Given the description of an element on the screen output the (x, y) to click on. 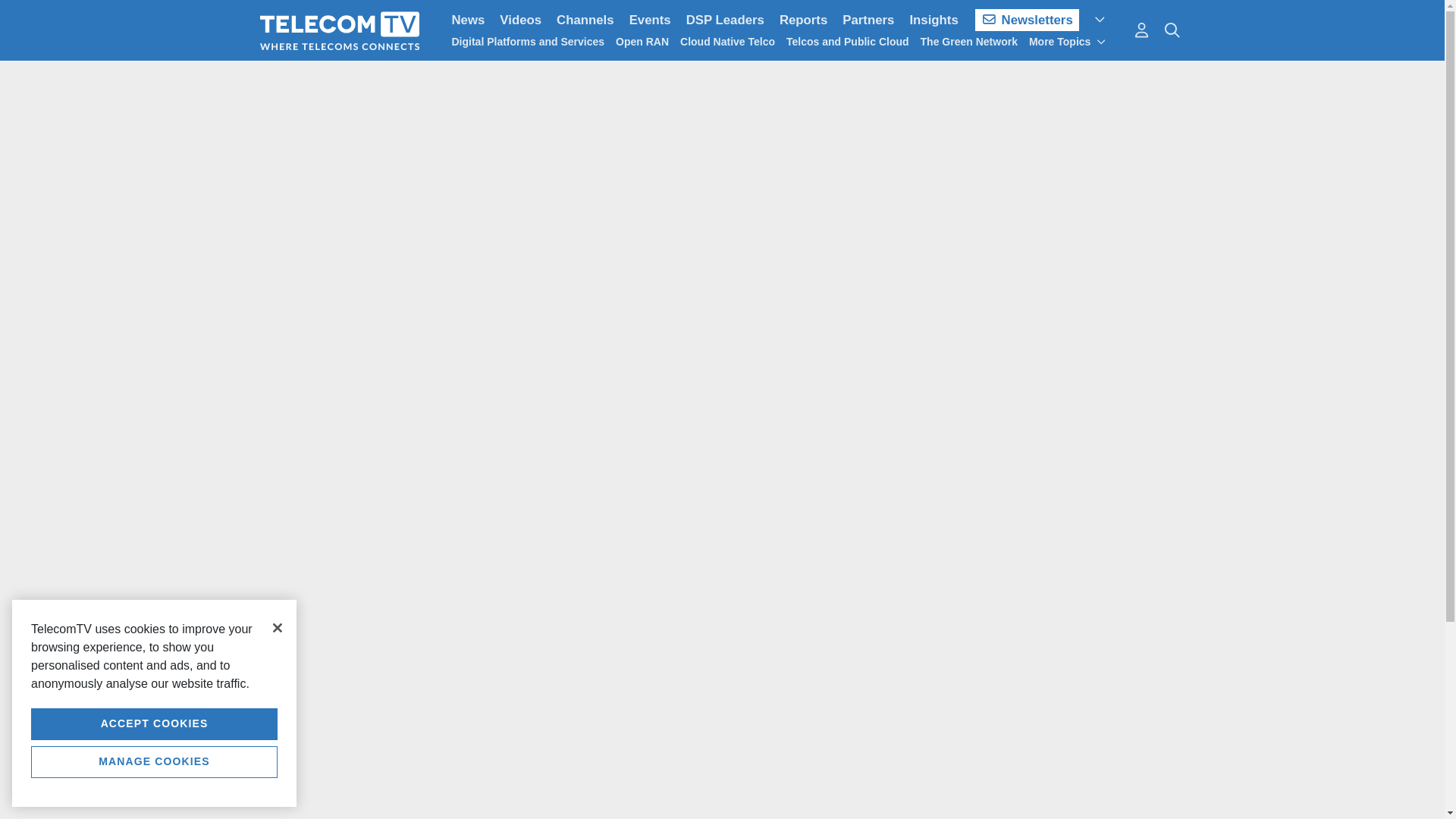
Open RAN (641, 41)
Reports (802, 20)
More Topics (1067, 41)
Digital Platforms and Services (528, 41)
Newsletters (1026, 20)
Events (650, 20)
Channels (585, 20)
Partners (867, 20)
Videos (520, 20)
Insights (932, 20)
News (468, 20)
The Green Network (968, 41)
DSP Leaders (724, 20)
Telcos and Public Cloud (847, 41)
Cloud Native Telco (726, 41)
